Given the description of an element on the screen output the (x, y) to click on. 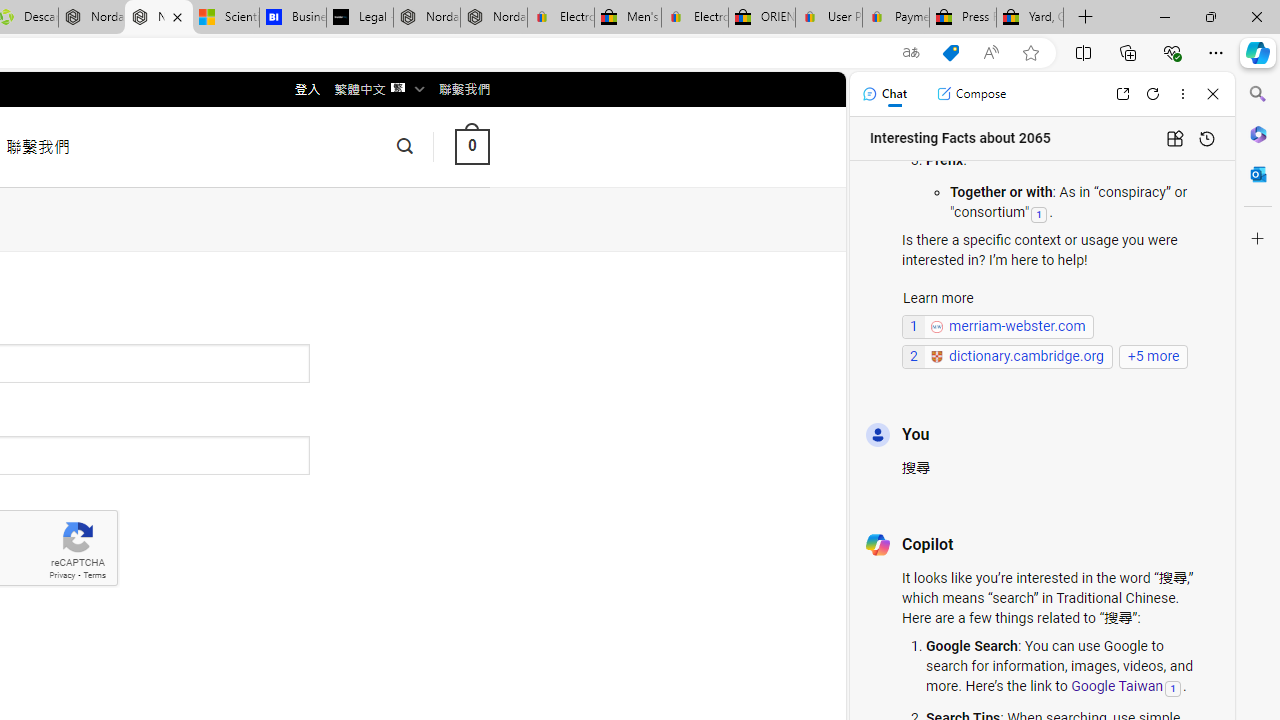
Chat (884, 93)
This site has coupons! Shopping in Microsoft Edge (950, 53)
Minimize Search pane (1258, 94)
Terms (94, 575)
Compose (971, 93)
